Given the description of an element on the screen output the (x, y) to click on. 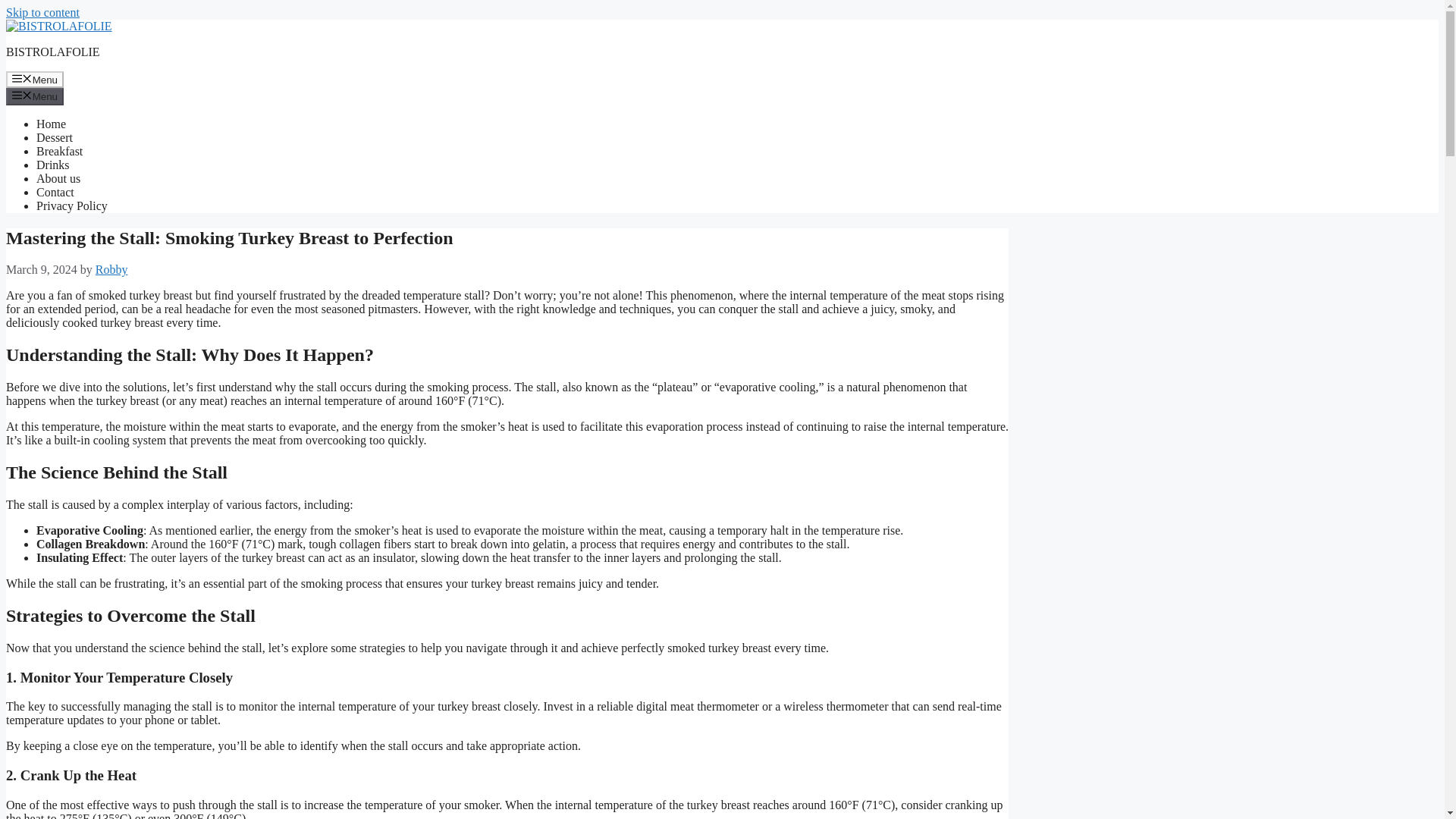
Drinks (52, 164)
BISTROLAFOLIE (52, 51)
Breakfast (59, 151)
Home (50, 123)
Menu (34, 95)
Dessert (54, 137)
About us (58, 178)
BISTROLAFOLIE (58, 25)
Robby (112, 269)
Privacy Policy (71, 205)
